Given the description of an element on the screen output the (x, y) to click on. 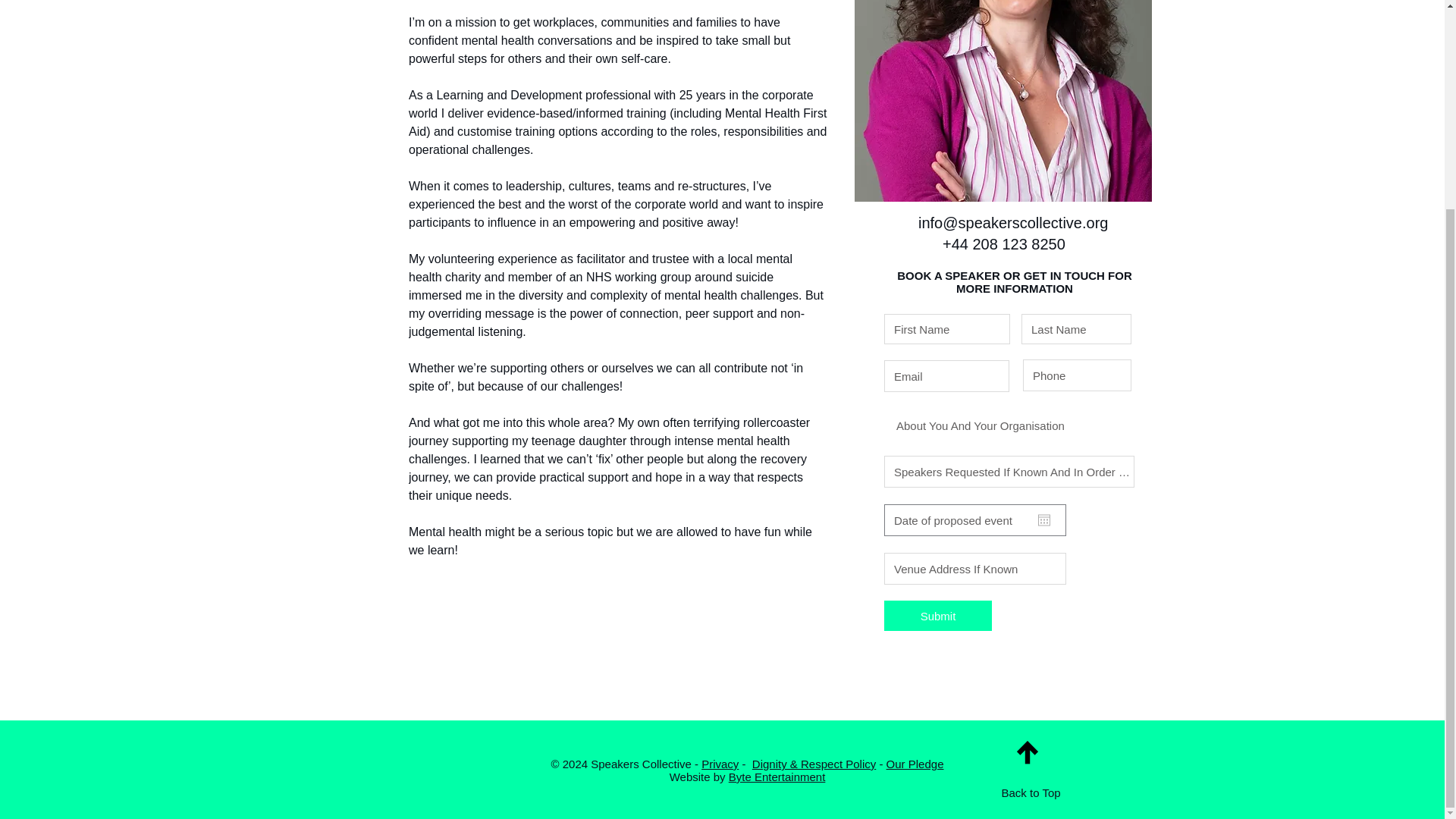
Emma  folding arms.jpg (1002, 100)
Byte Entertainment (777, 776)
Submit (937, 615)
Privacy (719, 763)
Back to Top (1030, 792)
Our Pledge (914, 763)
